Given the description of an element on the screen output the (x, y) to click on. 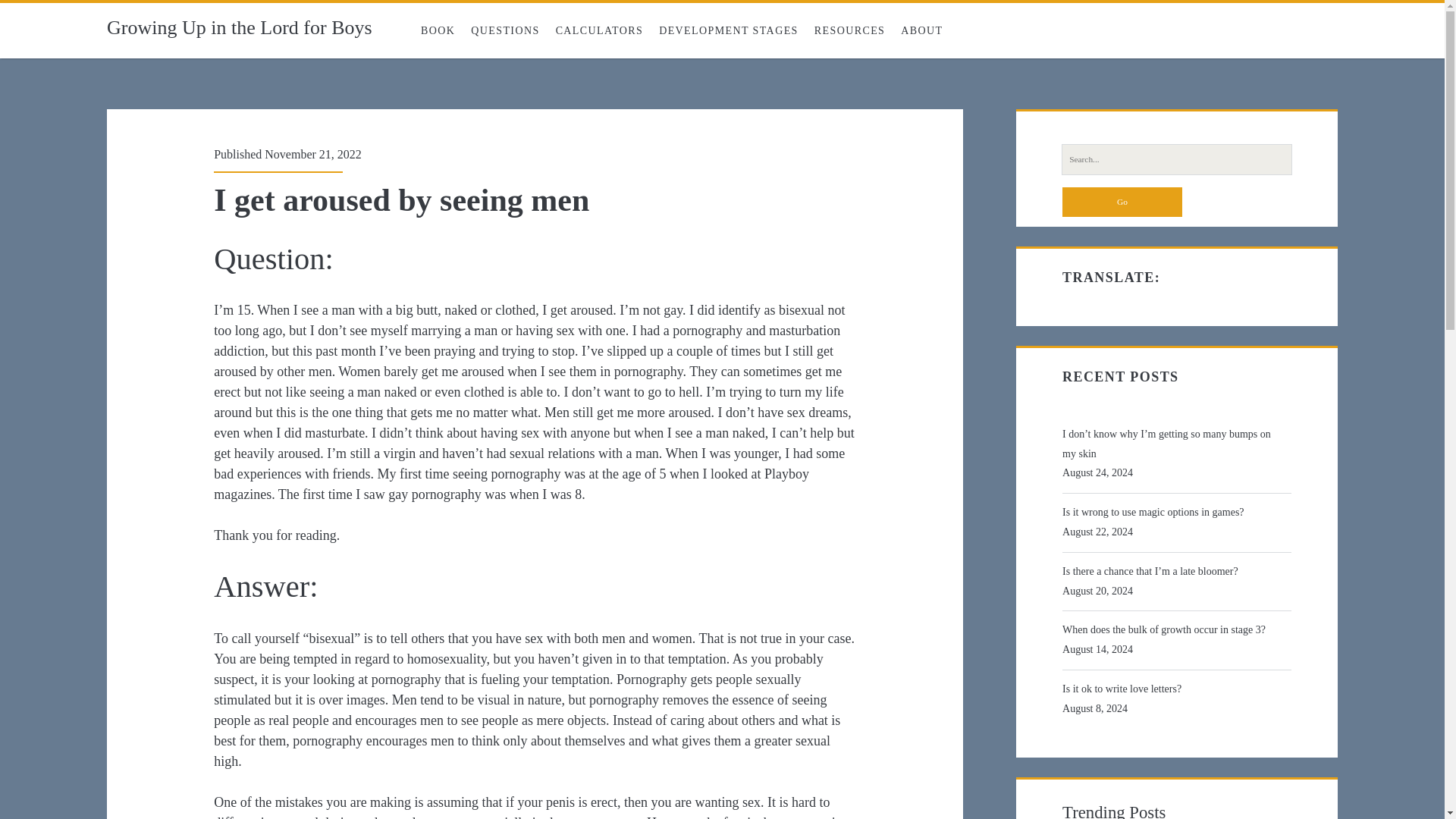
ABOUT (921, 30)
When does the bulk of growth occur in stage 3? (1173, 629)
Go (1122, 202)
Go (1122, 202)
Is it wrong to use magic options in games? (1173, 512)
CALCULATORS (598, 30)
Is it ok to write love letters? (1173, 689)
QUESTIONS (505, 30)
Go (1122, 202)
Growing Up in the Lord for Boys (239, 27)
